Given the description of an element on the screen output the (x, y) to click on. 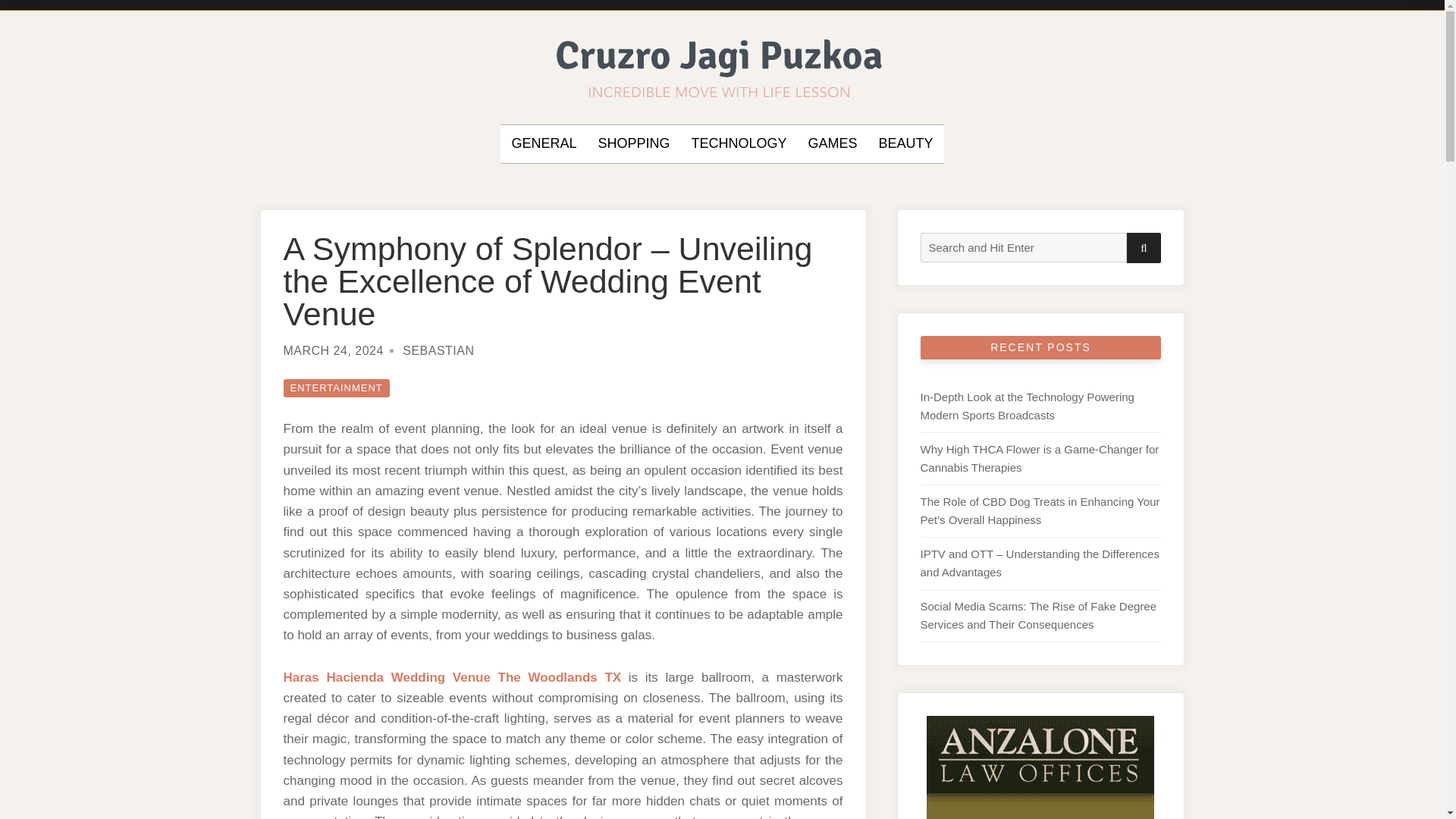
SEARCH (1143, 247)
MARCH 24, 2024 (333, 350)
ENTERTAINMENT (336, 388)
TECHNOLOGY (738, 143)
SEBASTIAN (438, 350)
Haras Hacienda Wedding Venue The Woodlands TX (452, 677)
BEAUTY (906, 143)
GAMES (832, 143)
